Given the description of an element on the screen output the (x, y) to click on. 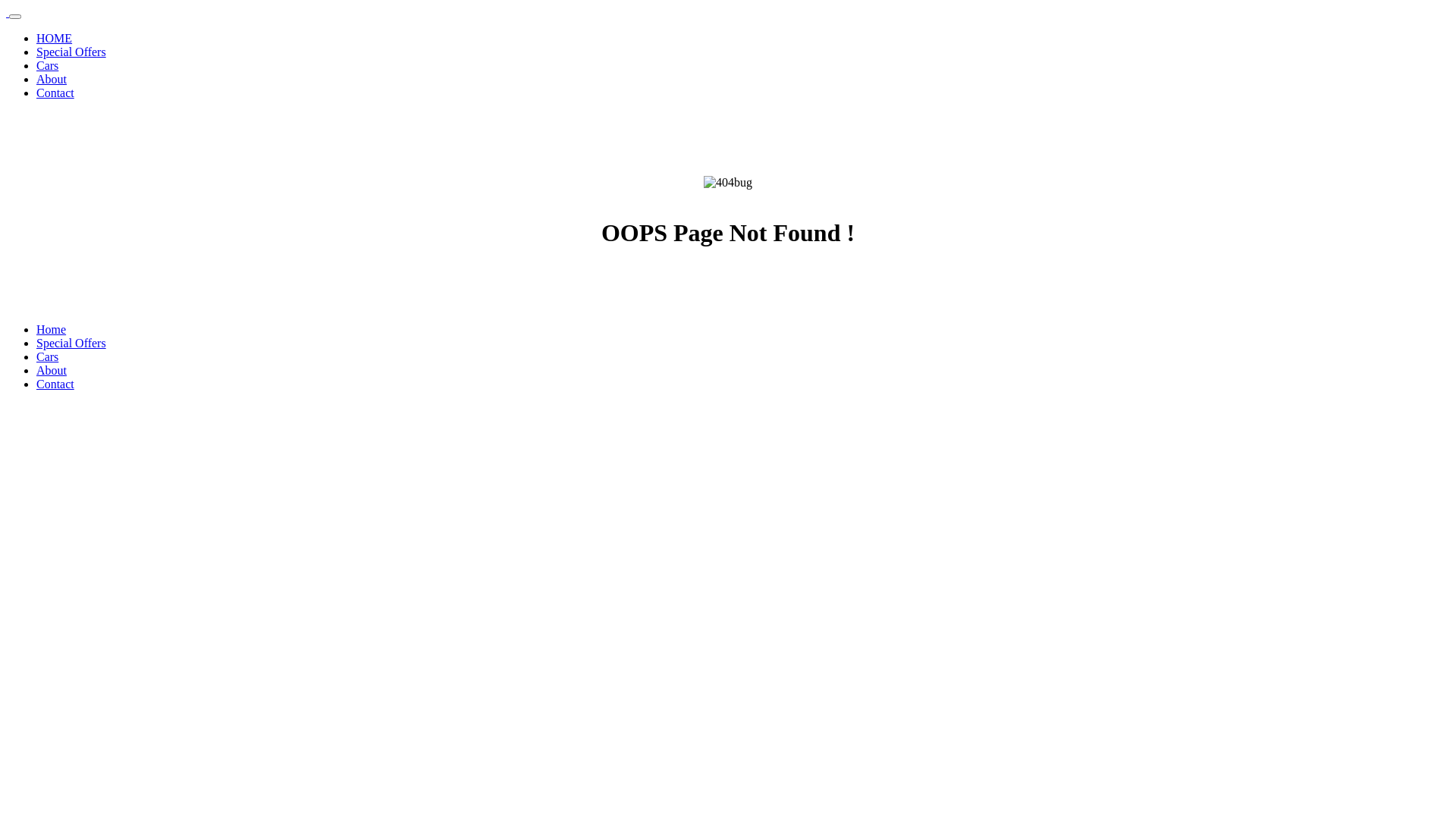
Special Offers Element type: text (71, 342)
Contact Element type: text (55, 383)
Cars Element type: text (47, 356)
Special Offers Element type: text (71, 51)
Cars Element type: text (47, 65)
About Element type: text (51, 370)
Home Element type: text (50, 329)
Contact Element type: text (55, 92)
Car Rental Element type: hover (7, 12)
HOME Element type: text (54, 37)
About Element type: text (51, 78)
404bug Element type: hover (727, 182)
